Given the description of an element on the screen output the (x, y) to click on. 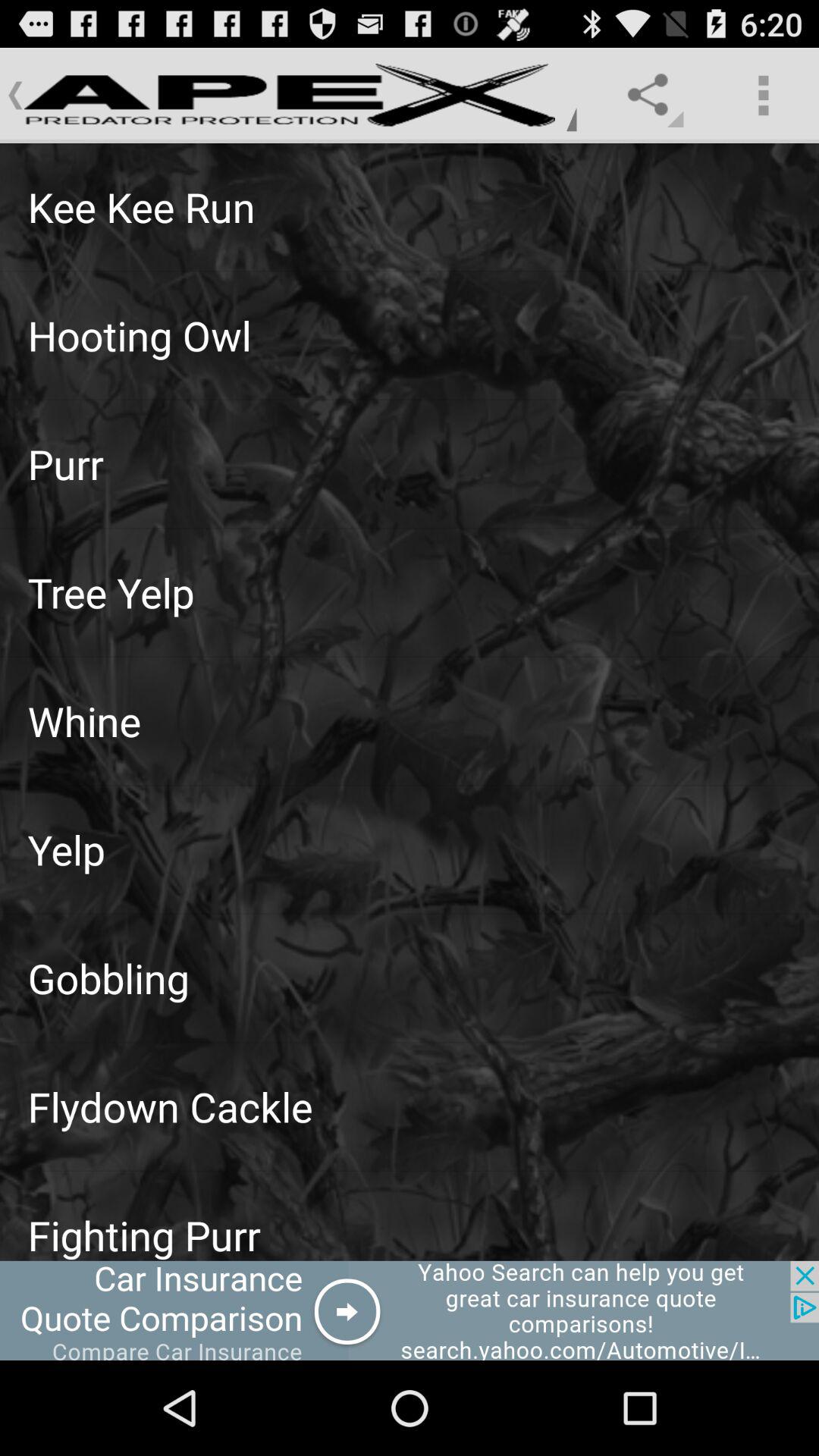
advertisement (409, 1310)
